Given the description of an element on the screen output the (x, y) to click on. 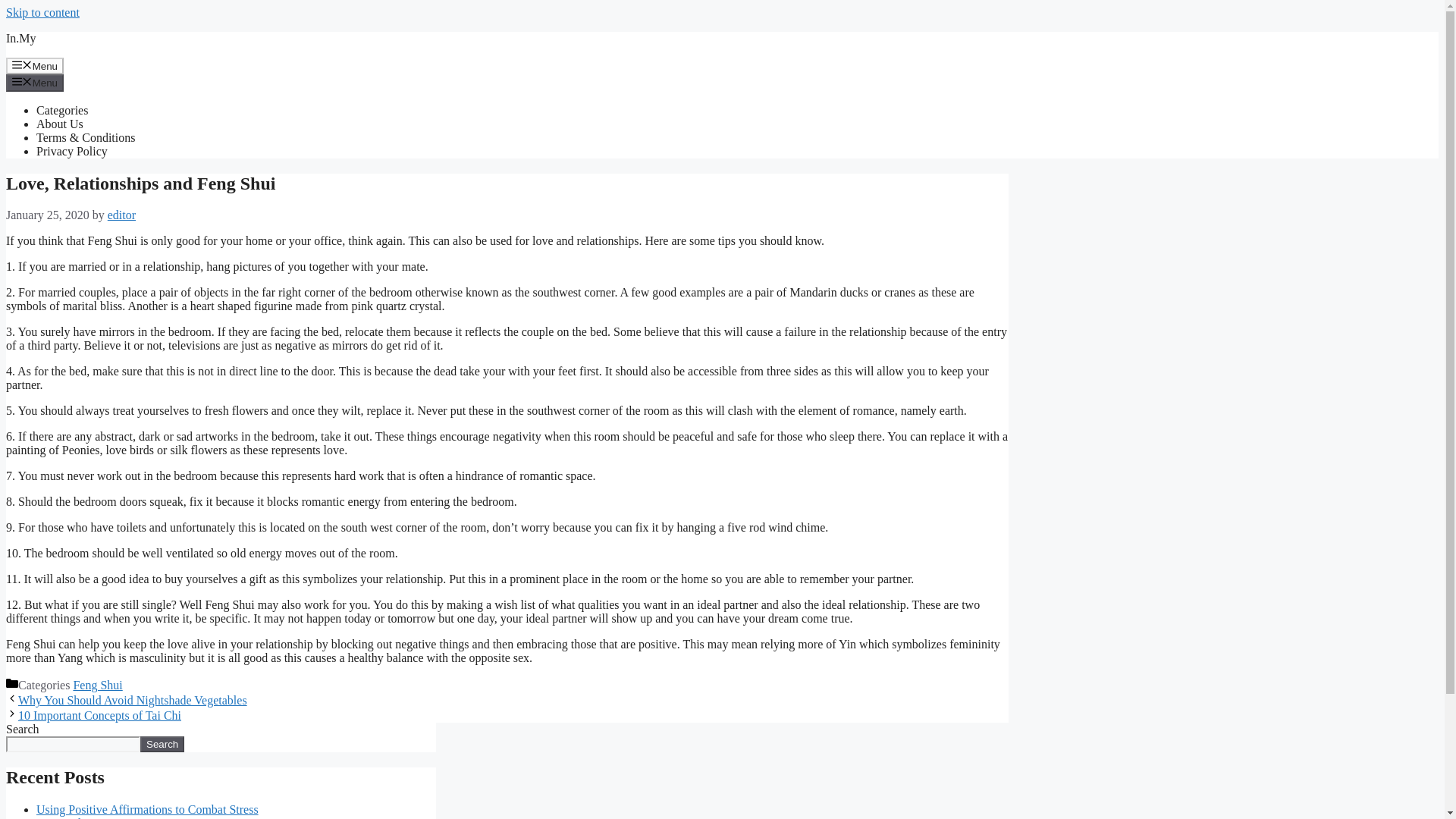
10 Important Concepts of Tai Chi (98, 715)
Skip to content (42, 11)
In.My (20, 38)
View all posts by editor (121, 214)
AI Development (76, 817)
editor (121, 214)
Feng Shui (97, 684)
Menu (34, 82)
About Us (59, 123)
Using Positive Affirmations to Combat Stress (147, 809)
Why You Should Avoid Nightshade Vegetables (132, 699)
Skip to content (42, 11)
Categories (61, 110)
Privacy Policy (71, 151)
Menu (34, 65)
